Given the description of an element on the screen output the (x, y) to click on. 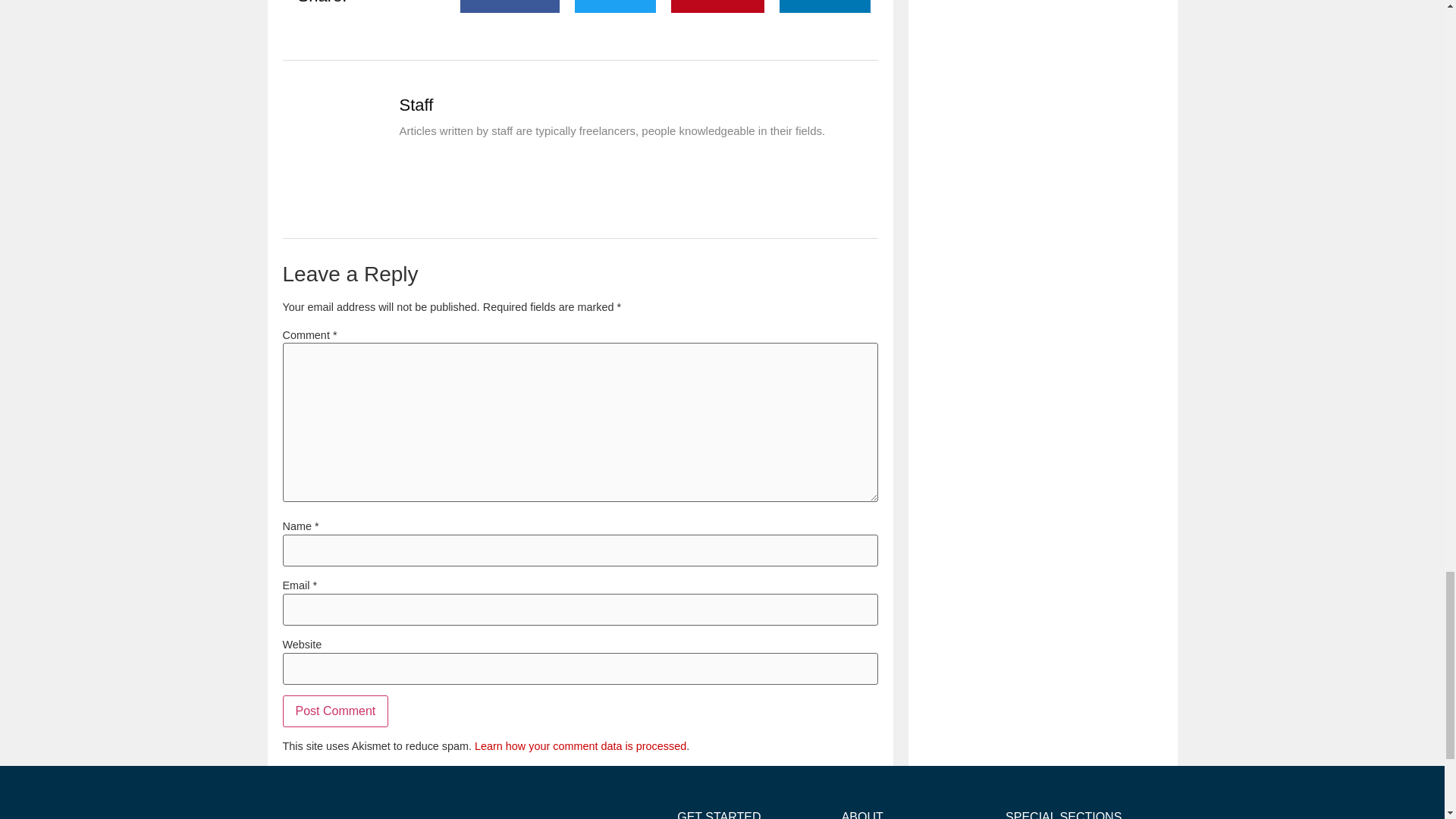
Post Comment (335, 711)
